Given the description of an element on the screen output the (x, y) to click on. 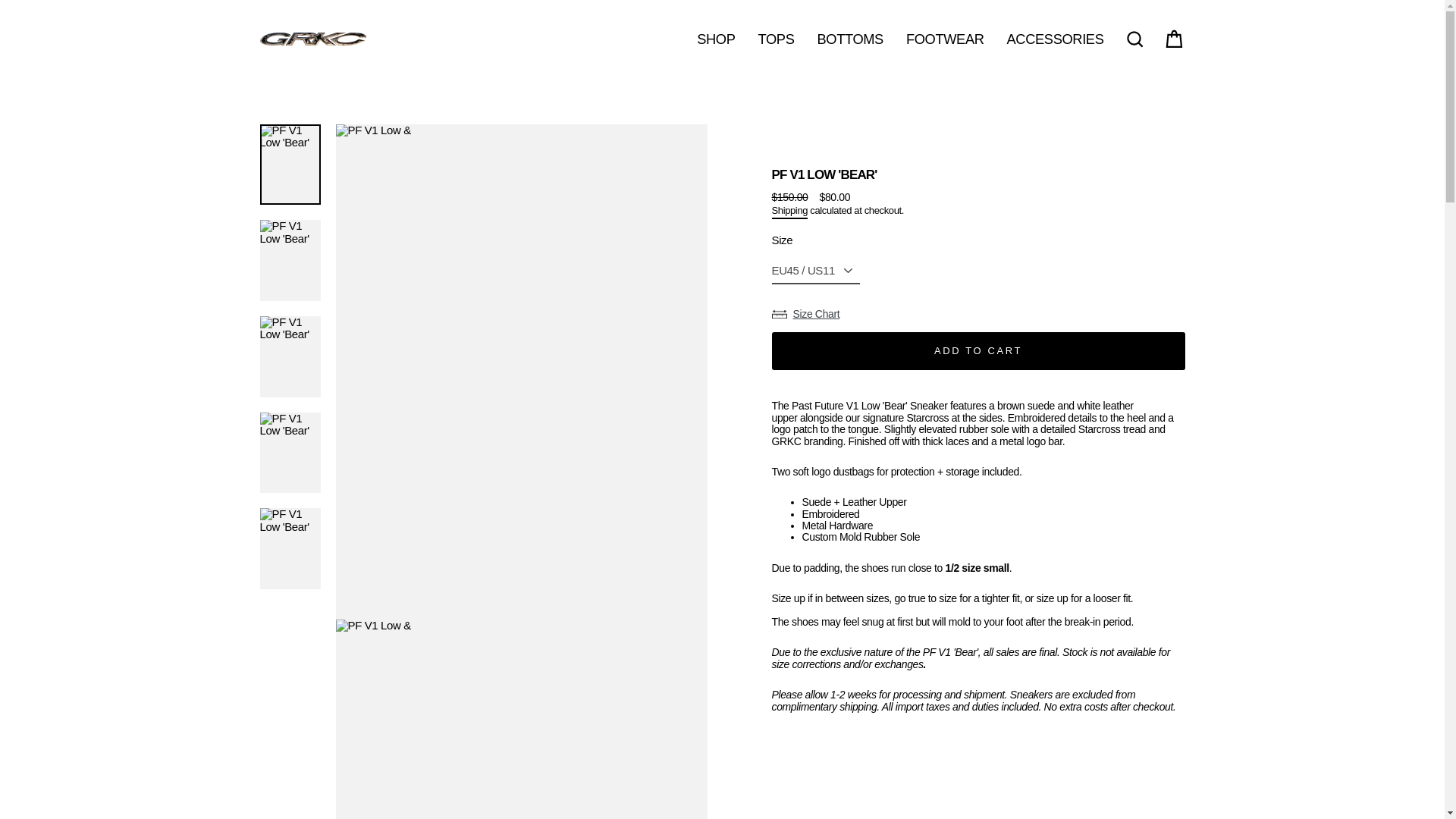
SHOP (715, 38)
BOTTOMS (849, 38)
Search (1134, 38)
ACCESSORIES (1055, 38)
FOOTWEAR (945, 38)
TOPS (776, 38)
